Given the description of an element on the screen output the (x, y) to click on. 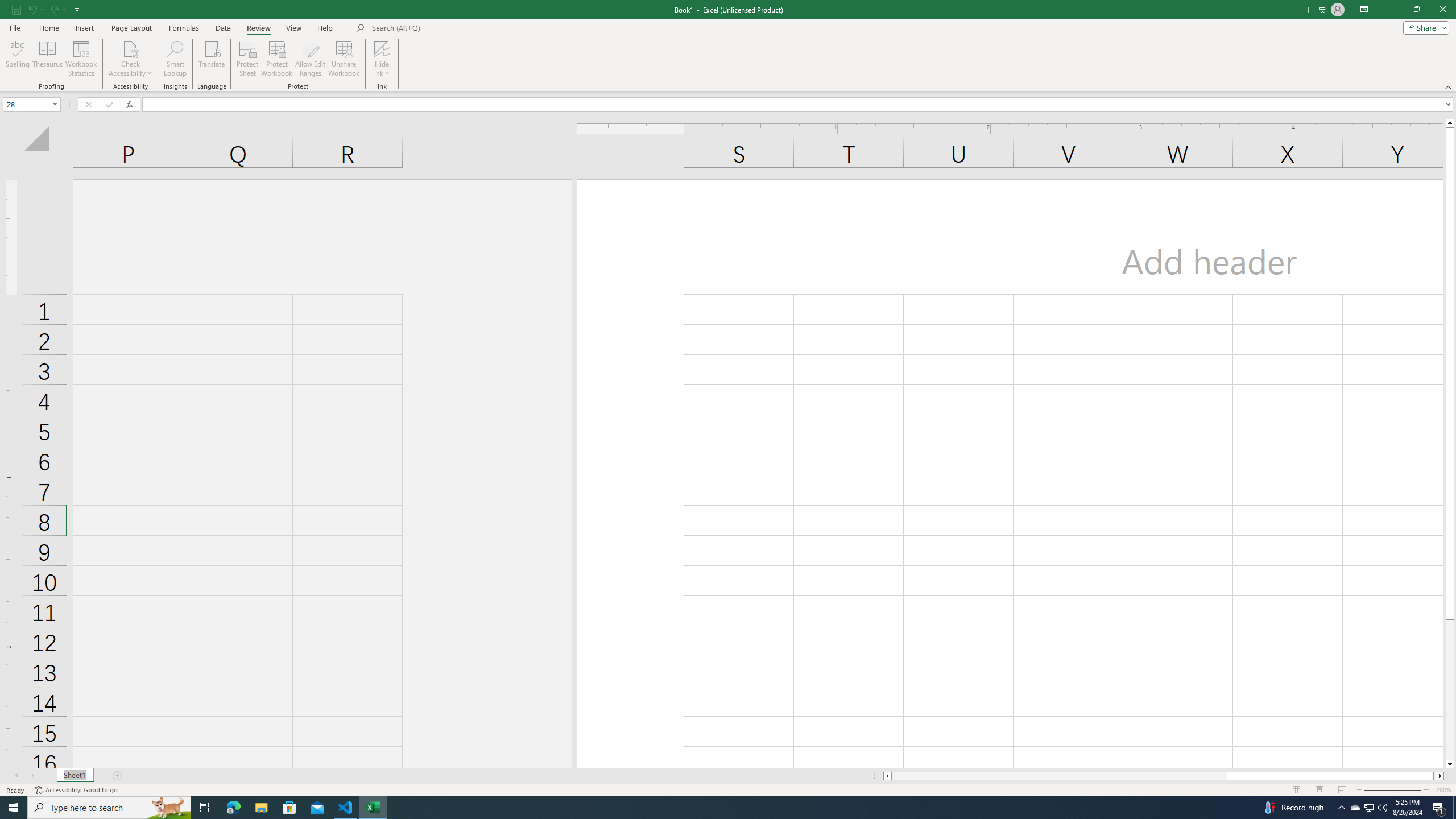
Page left (1059, 775)
Quick Access Toolbar (46, 9)
Customize Quick Access Toolbar (77, 9)
Zoom (1392, 790)
Scroll Left (16, 775)
View (293, 28)
Microsoft search (450, 28)
File Tab (15, 27)
Ribbon Display Options (1364, 9)
Class: MsoCommandBar (728, 45)
Close (1442, 9)
Formula Bar (798, 104)
Restore Down (1416, 9)
